Given the description of an element on the screen output the (x, y) to click on. 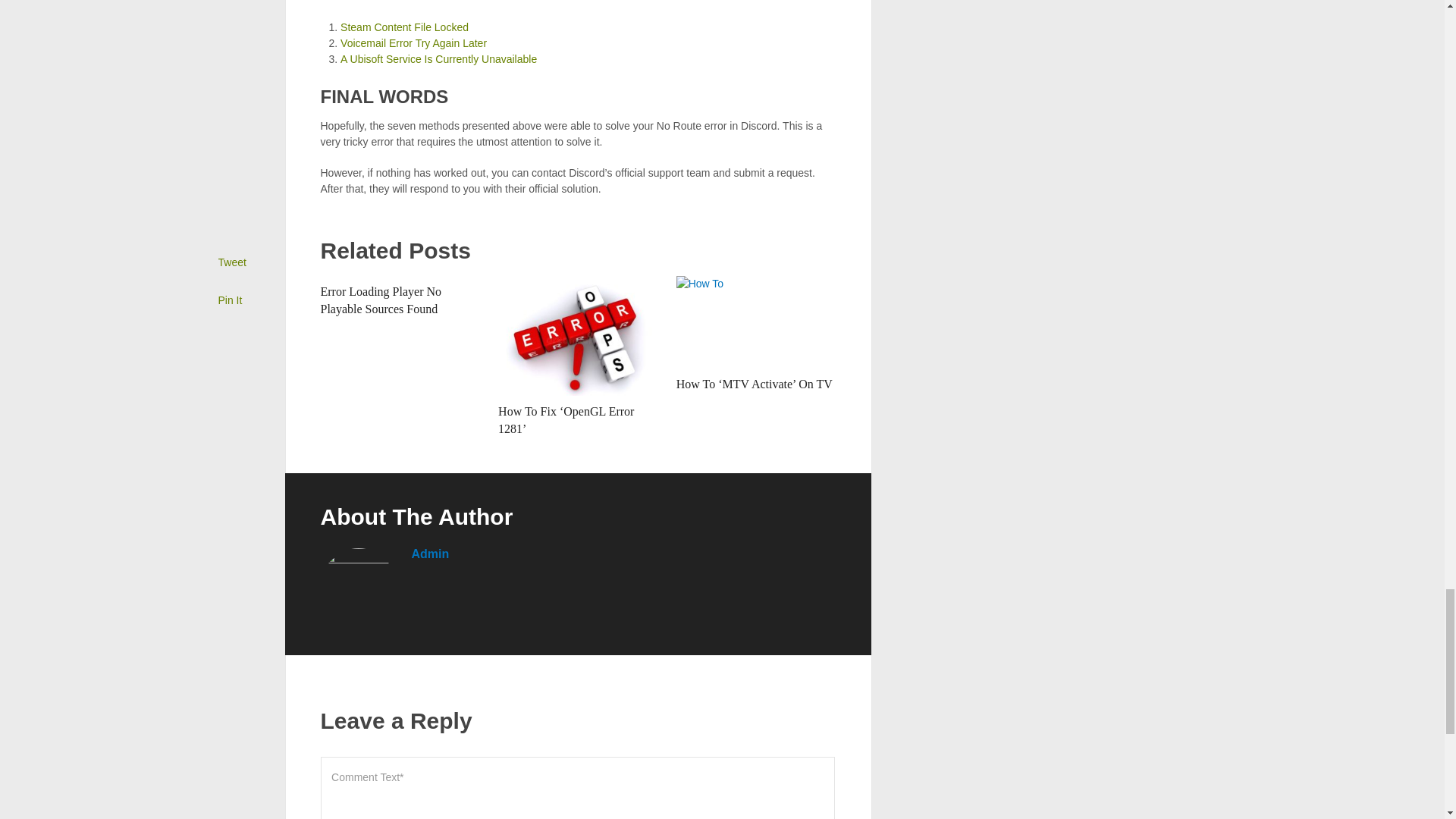
Error Loading Player No Playable Sources Found (380, 299)
Voicemail Error Try Again Later (413, 42)
Steam Content File Locked (404, 27)
A Ubisoft Service Is Currently Unavailable (438, 59)
Error Loading Player No Playable Sources Found (380, 299)
Admin (429, 553)
